Given the description of an element on the screen output the (x, y) to click on. 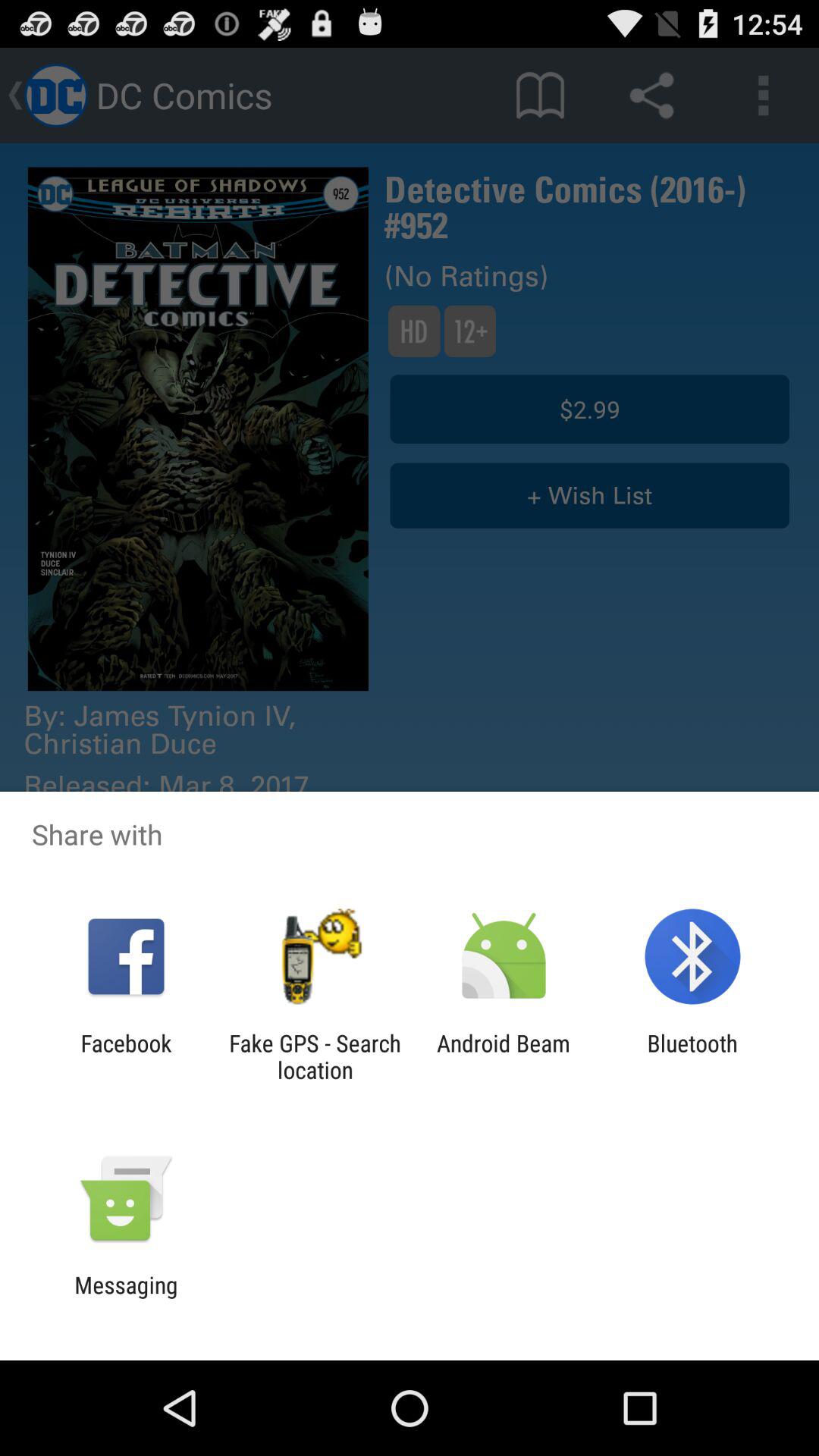
swipe to fake gps search (314, 1056)
